Given the description of an element on the screen output the (x, y) to click on. 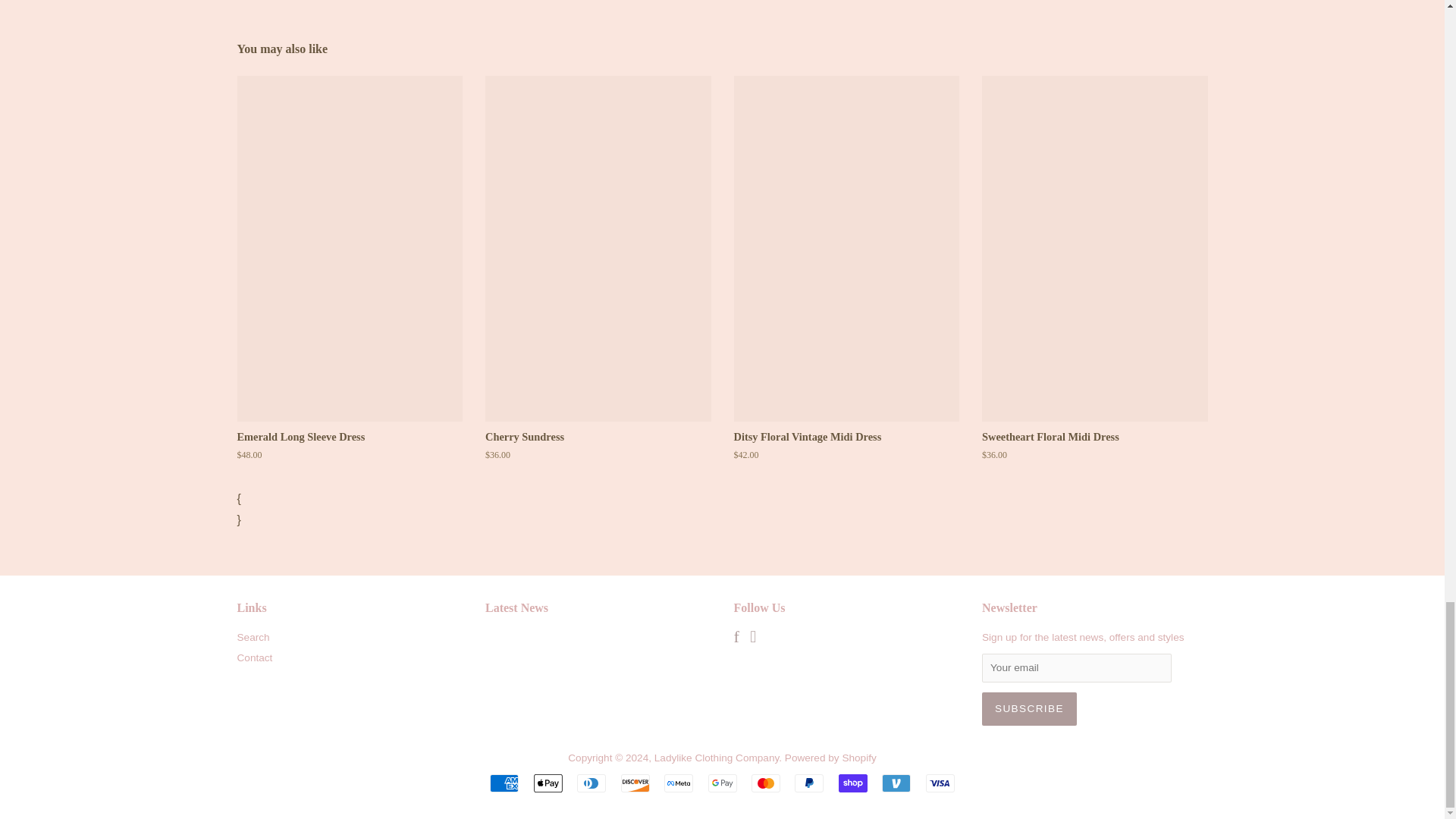
Diners Club (590, 782)
PayPal (809, 782)
Ladylike Clothing Company on Instagram (752, 638)
Subscribe (1029, 708)
Ladylike Clothing Company on Facebook (736, 638)
Google Pay (721, 782)
Discover (635, 782)
Venmo (896, 782)
American Express (503, 782)
Shop Pay (852, 782)
Visa (940, 782)
Mastercard (765, 782)
Apple Pay (548, 782)
Meta Pay (678, 782)
